Given the description of an element on the screen output the (x, y) to click on. 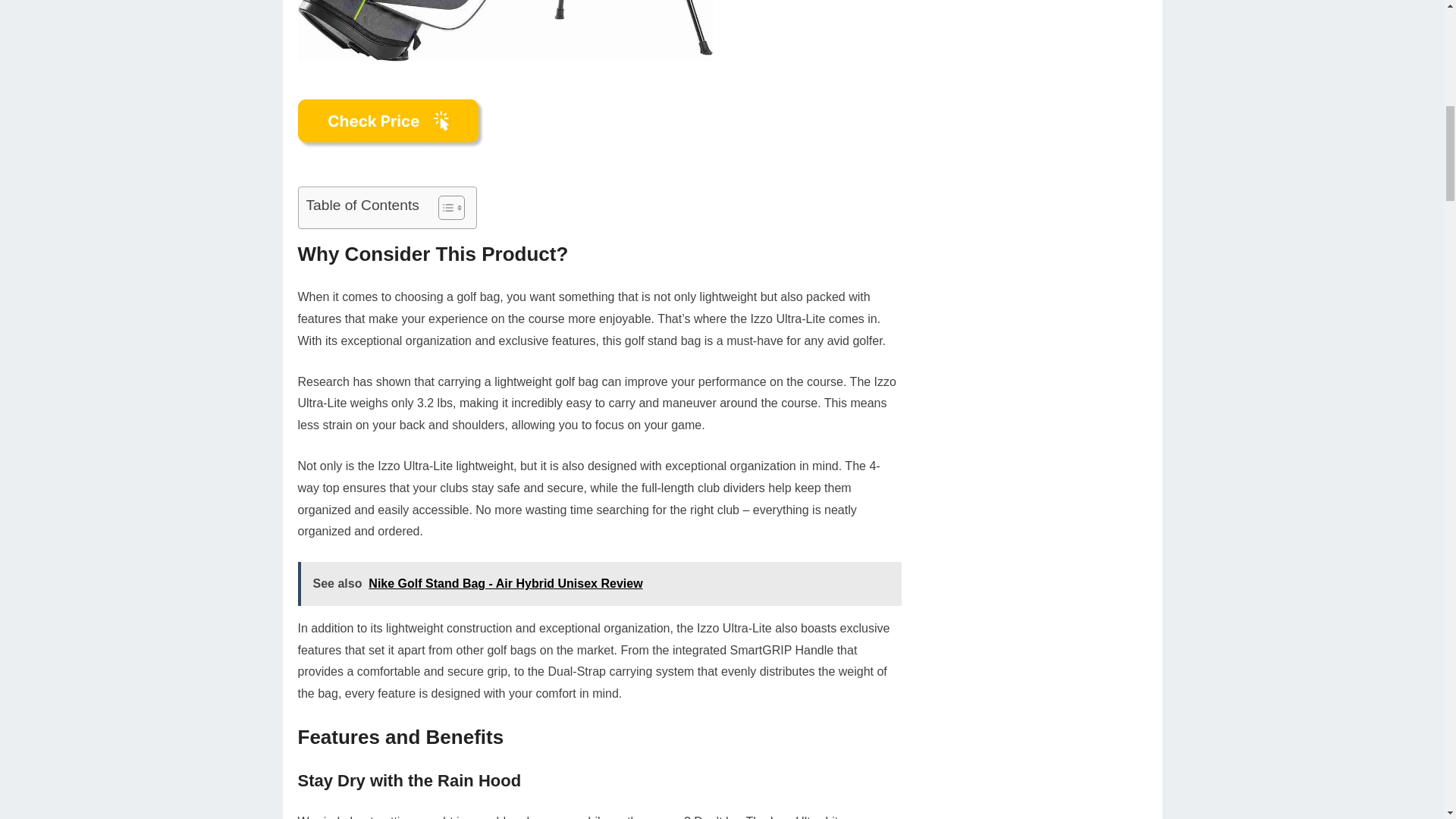
Izzo Ultra-Lite (504, 30)
Learn more about the Izzo Ultra-Lite here. (390, 155)
Learn more about the Izzo Ultra-Lite here. (390, 123)
